Given the description of an element on the screen output the (x, y) to click on. 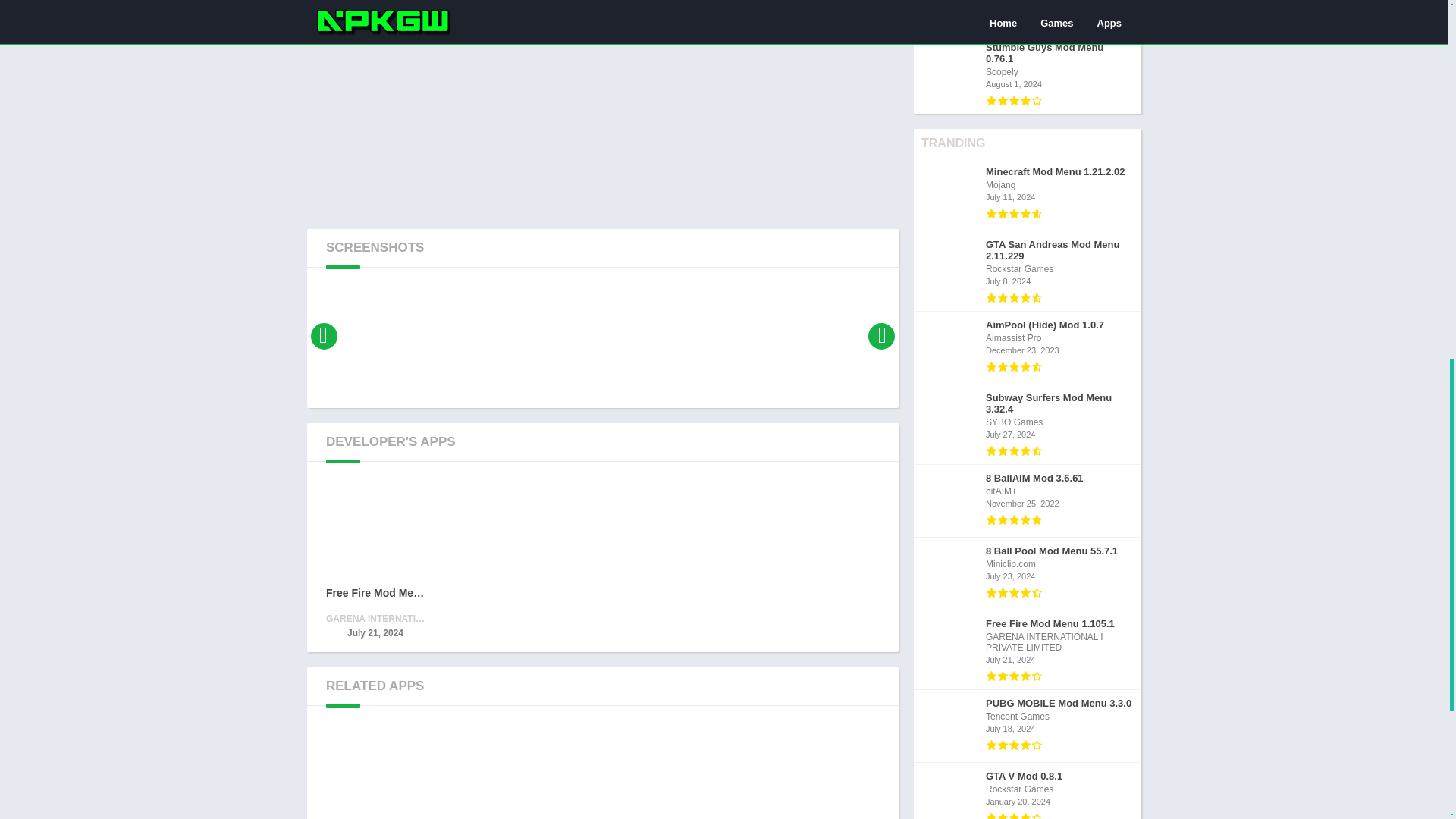
Barbie Dreamhouse Adventure Mod 2024.7.0 6 (715, 771)
Manage Supermarket Simulator Mod 2.5.3 (488, 771)
Barbie Dreamhouse Adventure Mod 2024.7.0 (715, 771)
Miga Town My World Mod 1.73 (375, 771)
Manage Supermarket Simulator Mod 2.5.3 4 (488, 771)
Stickman Party 234 Mod 2.4.5.5 (602, 771)
Stickman Party 234 Mod 2.4.5.5 5 (602, 771)
Free Fire Mod Menu 1.105.1 2 (375, 529)
Miga Town My World Mod 1.73 3 (375, 771)
